Given the description of an element on the screen output the (x, y) to click on. 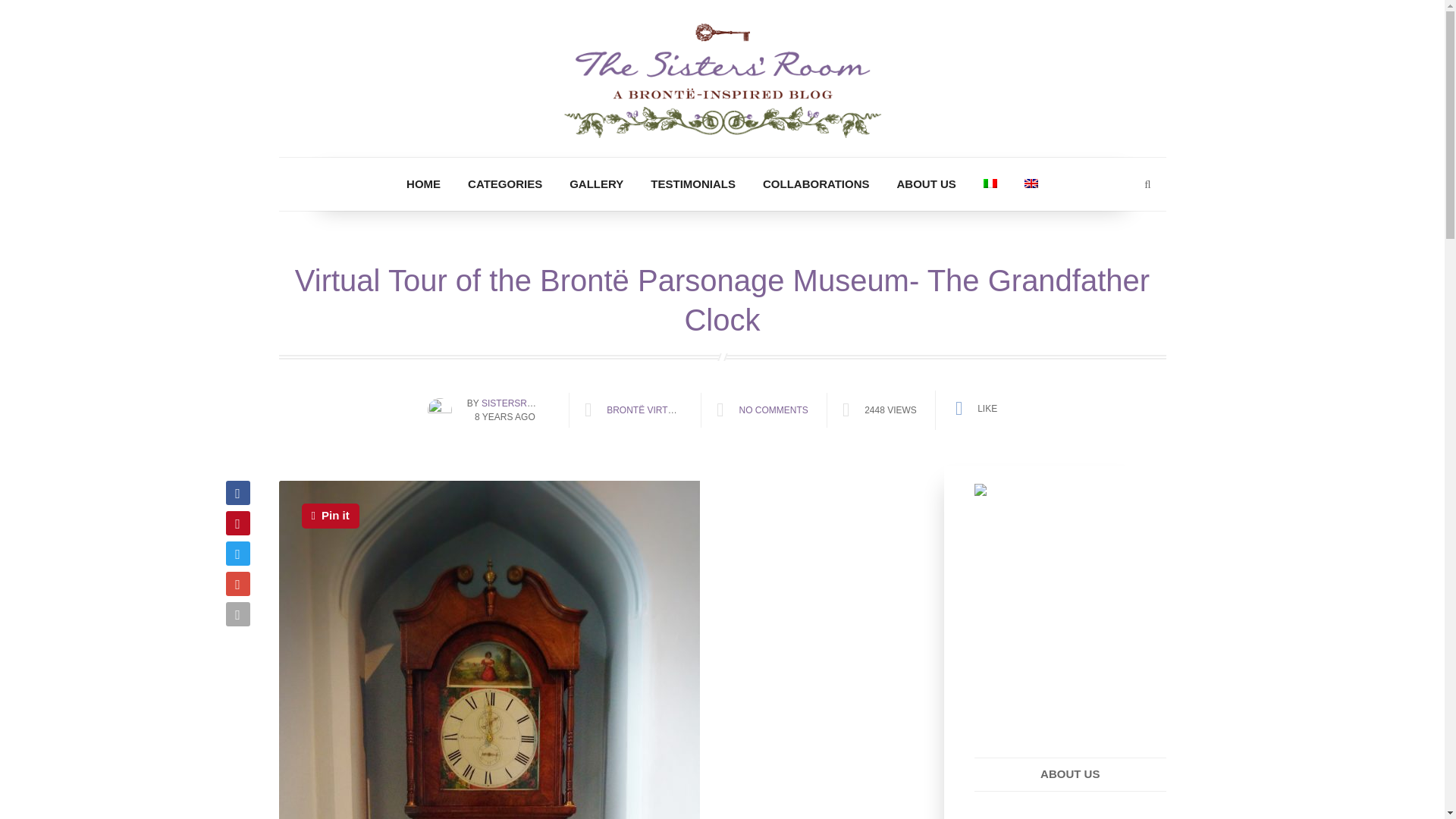
NO COMMENTS (773, 409)
English (1031, 183)
CATEGORIES (504, 184)
GALLERY (596, 184)
HOME (423, 184)
TESTIMONIALS (692, 184)
ABOUT US (926, 184)
Italiano (990, 183)
COLLABORATIONS (815, 184)
LIKE (975, 408)
Pin it (330, 515)
